Given the description of an element on the screen output the (x, y) to click on. 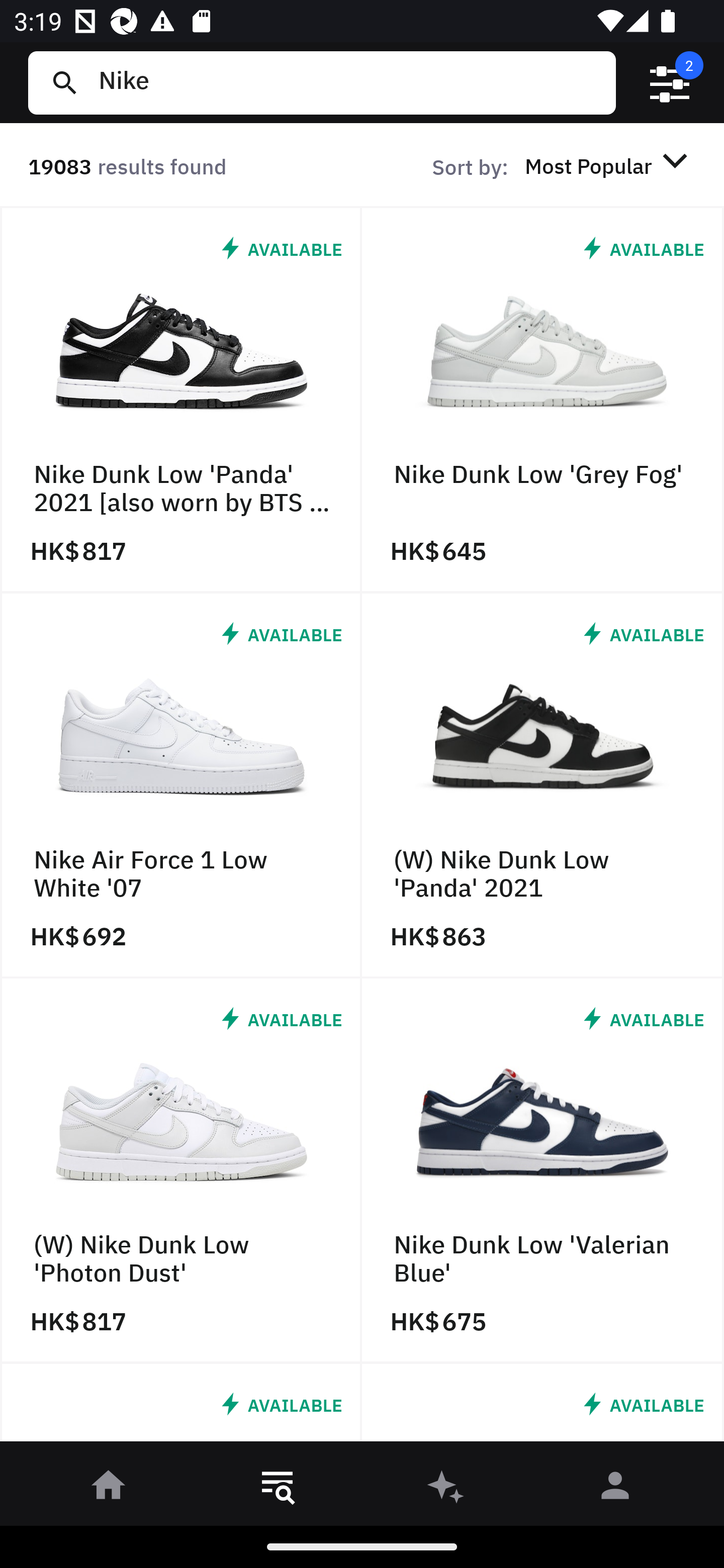
Nike (349, 82)
 (669, 82)
Most Popular  (609, 165)
 AVAILABLE Nike Dunk Low 'Grey Fog' HK$ 645 (543, 399)
 AVAILABLE Nike Air Force 1 Low White '07 HK$ 692 (181, 785)
 AVAILABLE (W) Nike Dunk Low 'Panda' 2021 HK$ 863 (543, 785)
 AVAILABLE Nike Dunk Low 'Valerian Blue' HK$ 675 (543, 1171)
󰋜 (108, 1488)
󱎸 (277, 1488)
󰫢 (446, 1488)
󰀄 (615, 1488)
